Given the description of an element on the screen output the (x, y) to click on. 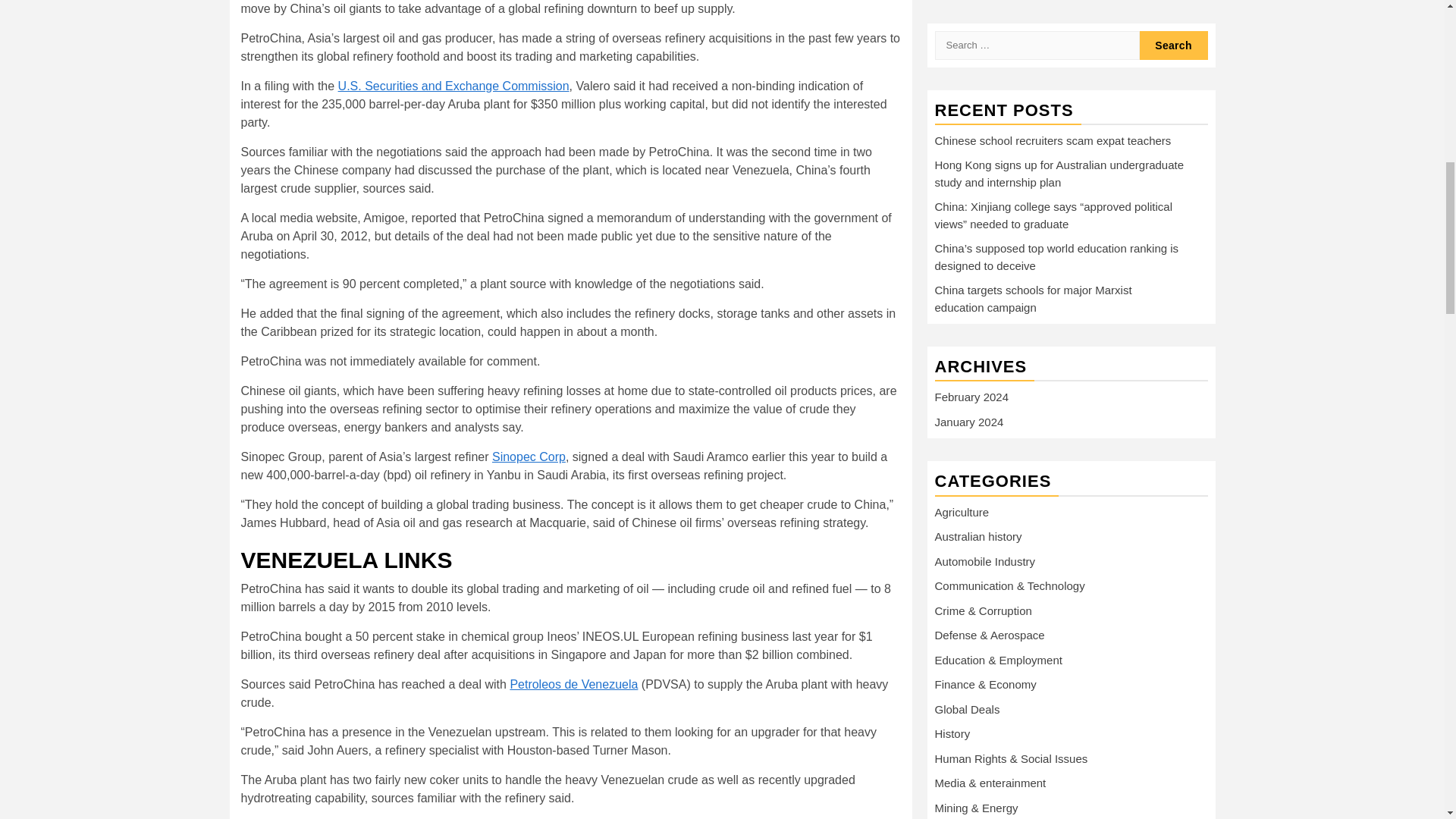
Thursday (1070, 617)
Tuesday (992, 617)
Friday (1109, 617)
Wednesday (1032, 617)
Monday (954, 617)
